Given the description of an element on the screen output the (x, y) to click on. 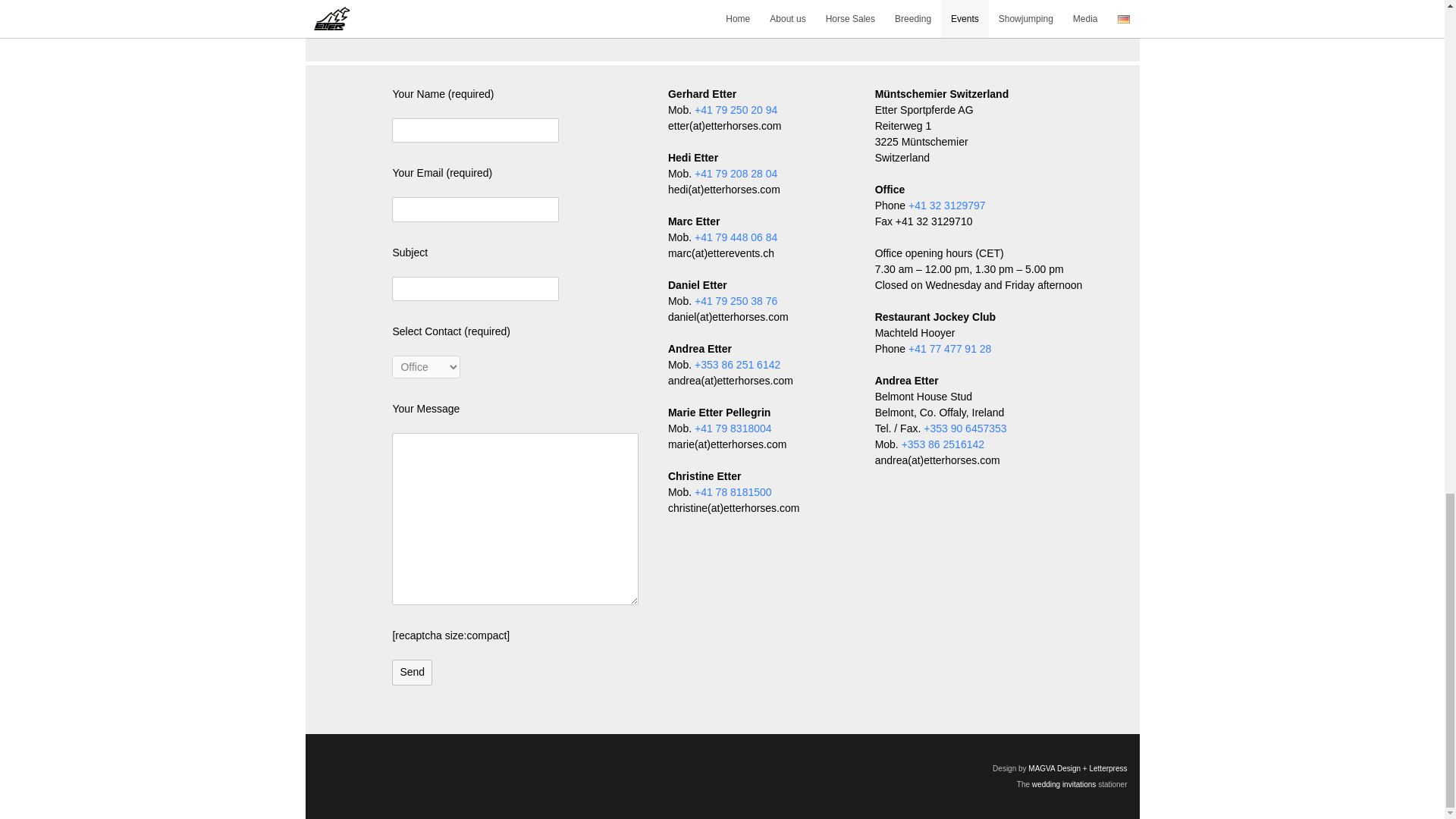
wedding invitations (1064, 784)
Send (411, 672)
Send (411, 672)
